Given the description of an element on the screen output the (x, y) to click on. 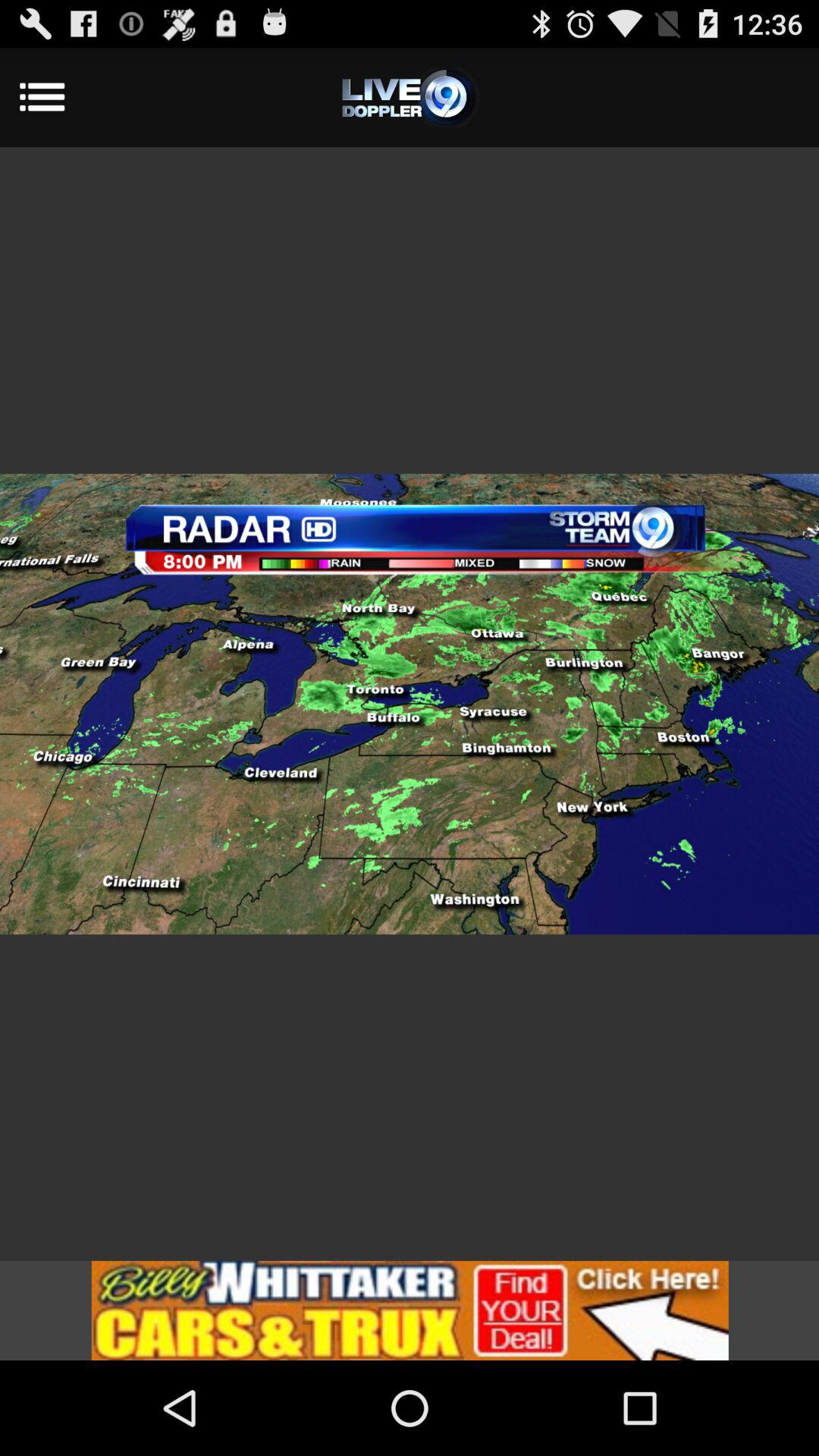
zoom in on tapped area (409, 703)
